Given the description of an element on the screen output the (x, y) to click on. 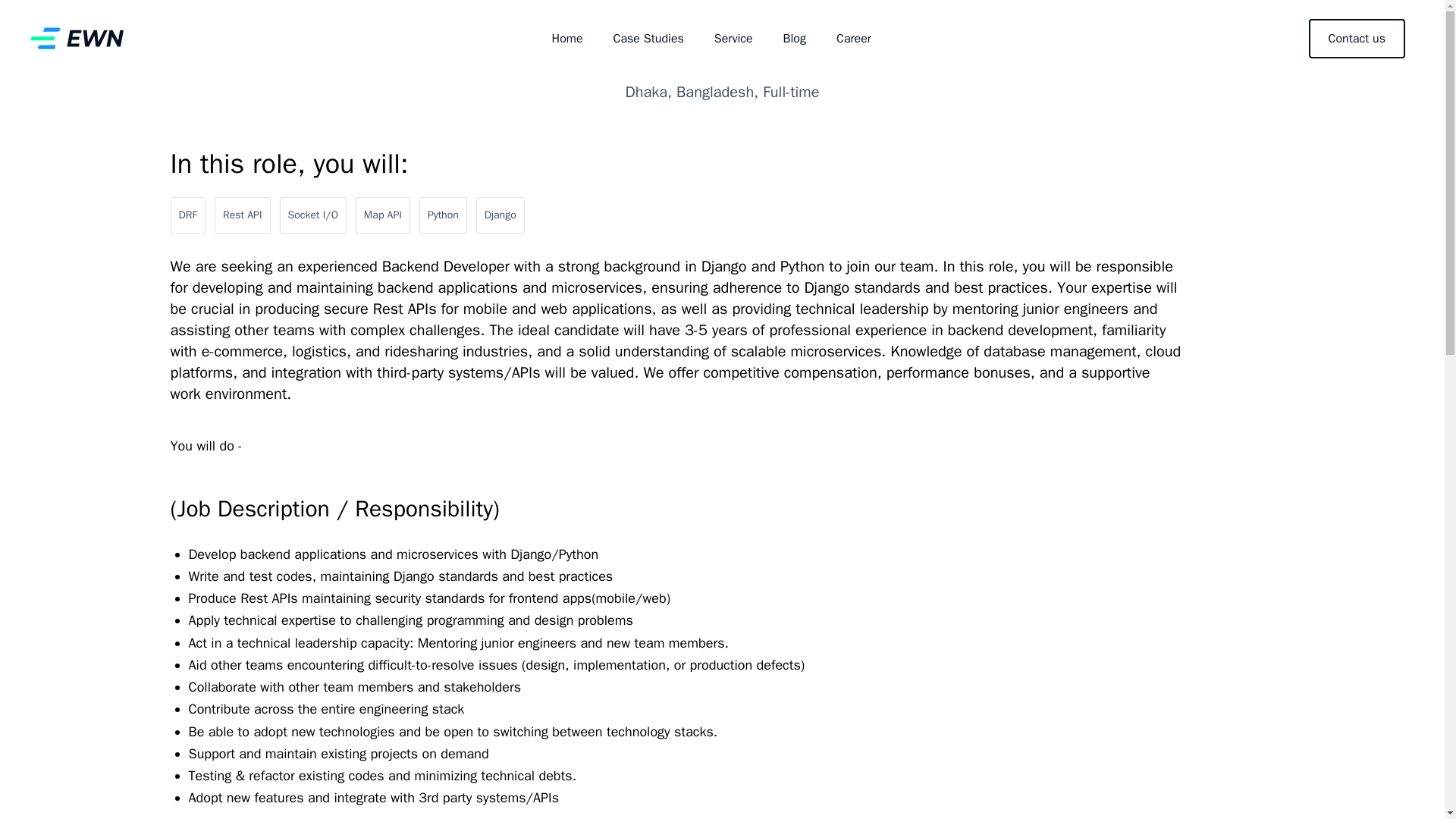
Home (567, 37)
Contact us (1356, 37)
Blog (794, 37)
Case Studies (648, 37)
Service (732, 37)
Career (853, 37)
Back (722, 15)
